Given the description of an element on the screen output the (x, y) to click on. 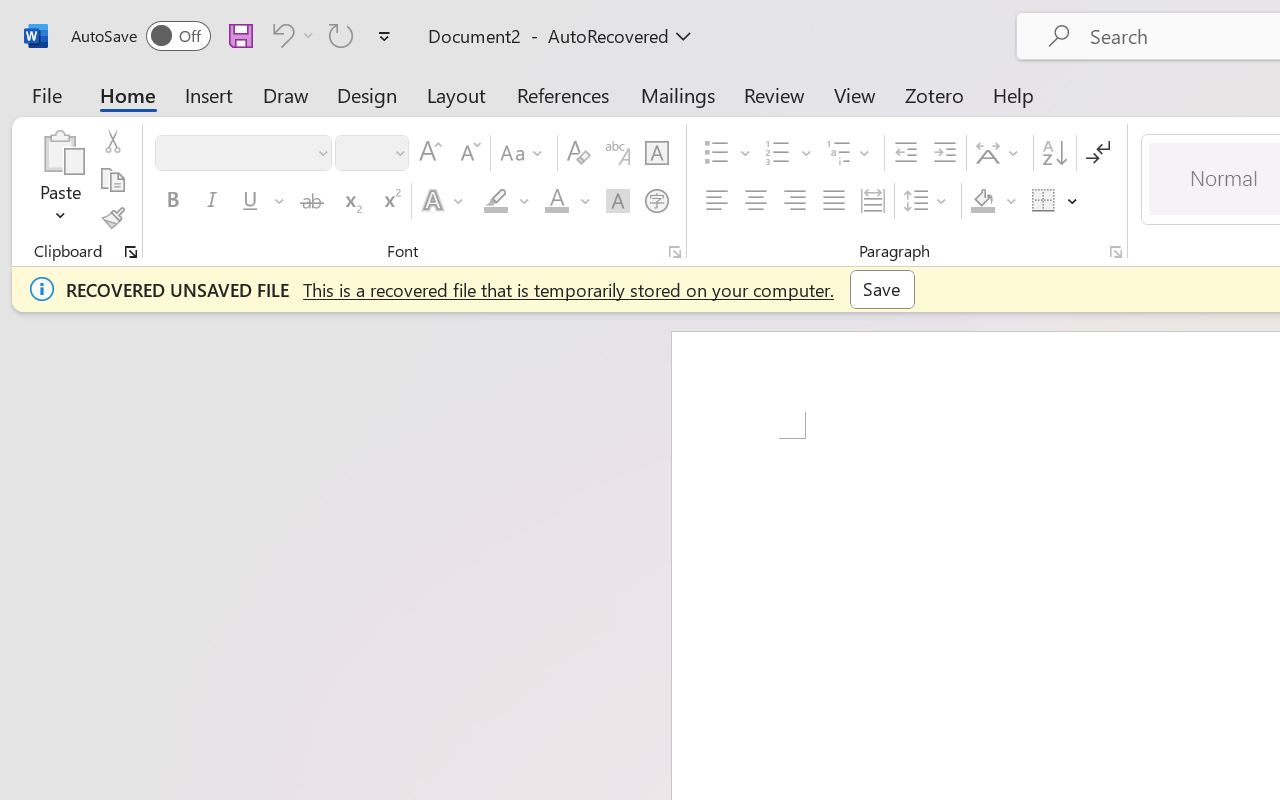
Multilevel List (850, 153)
Distributed (872, 201)
Align Left (716, 201)
Can't Undo (290, 35)
Phonetic Guide... (618, 153)
Font Color (567, 201)
Asian Layout (1000, 153)
